Given the description of an element on the screen output the (x, y) to click on. 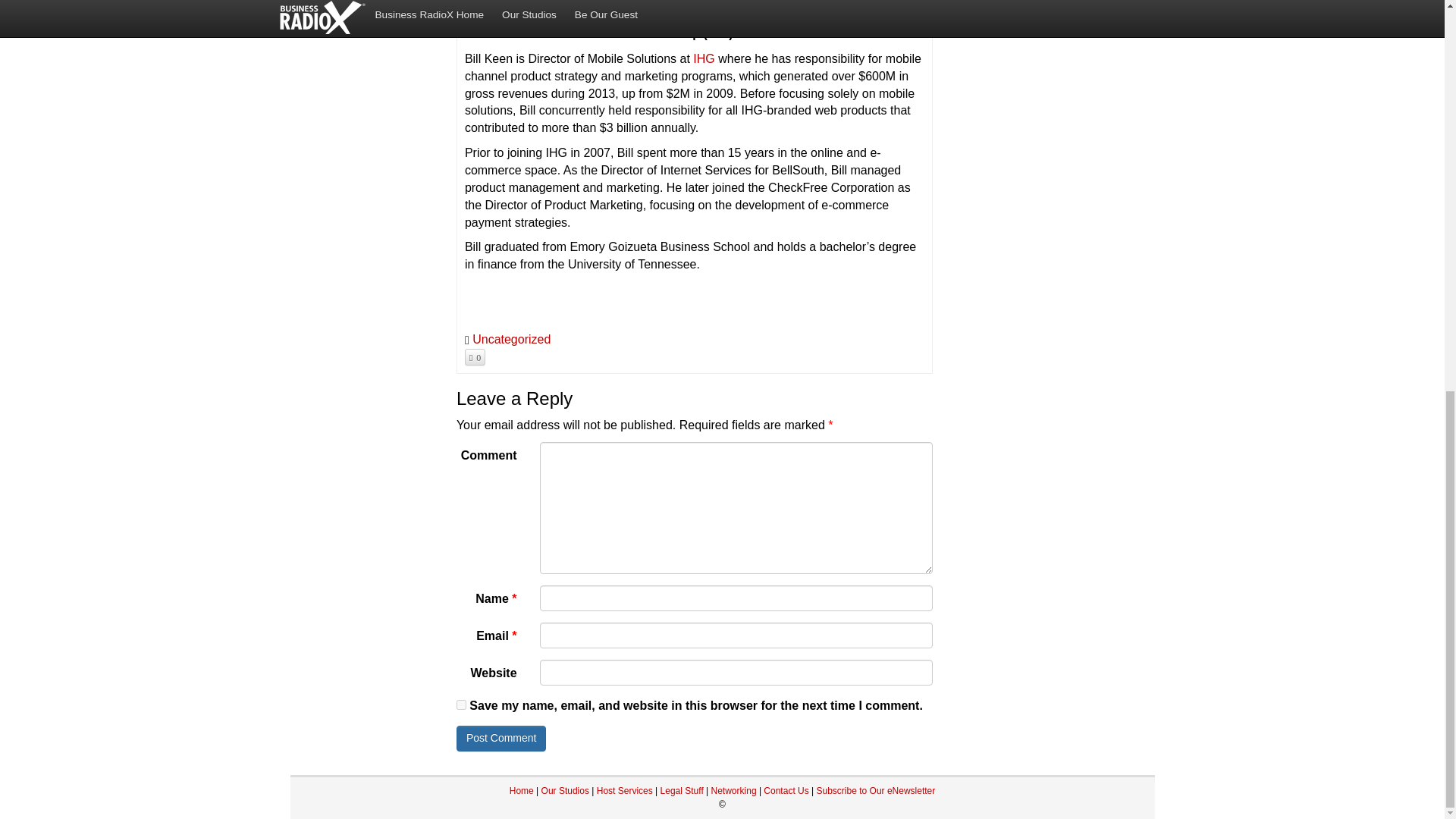
yes (461, 705)
Post Comment (502, 738)
IHG (703, 58)
